Given the description of an element on the screen output the (x, y) to click on. 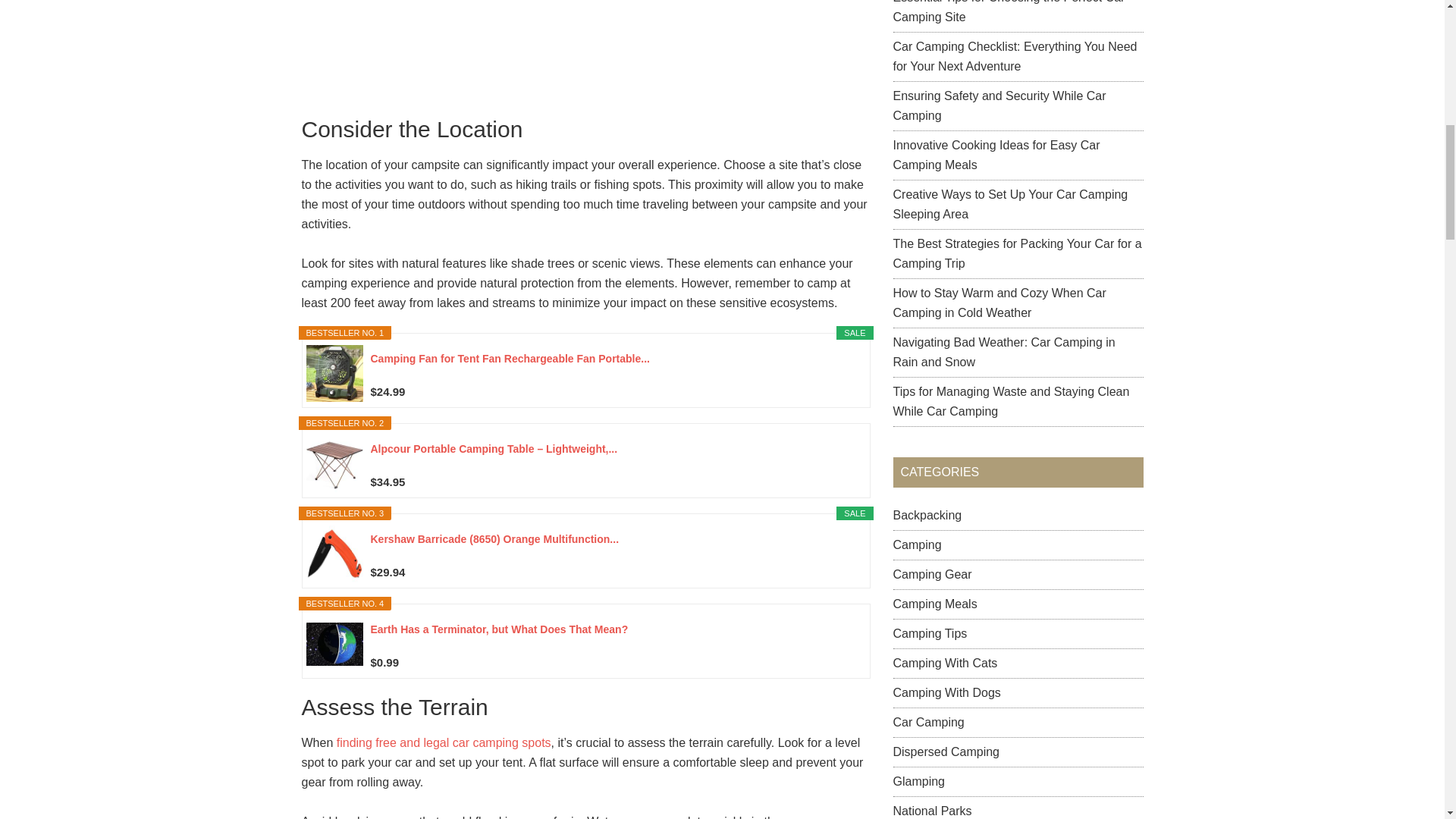
finding free and legal car camping spots (443, 742)
Earth Has a Terminator, but What Does That Mean? (613, 636)
Camping Fan for Tent Fan Rechargeable Fan Portable... (613, 366)
